Given the description of an element on the screen output the (x, y) to click on. 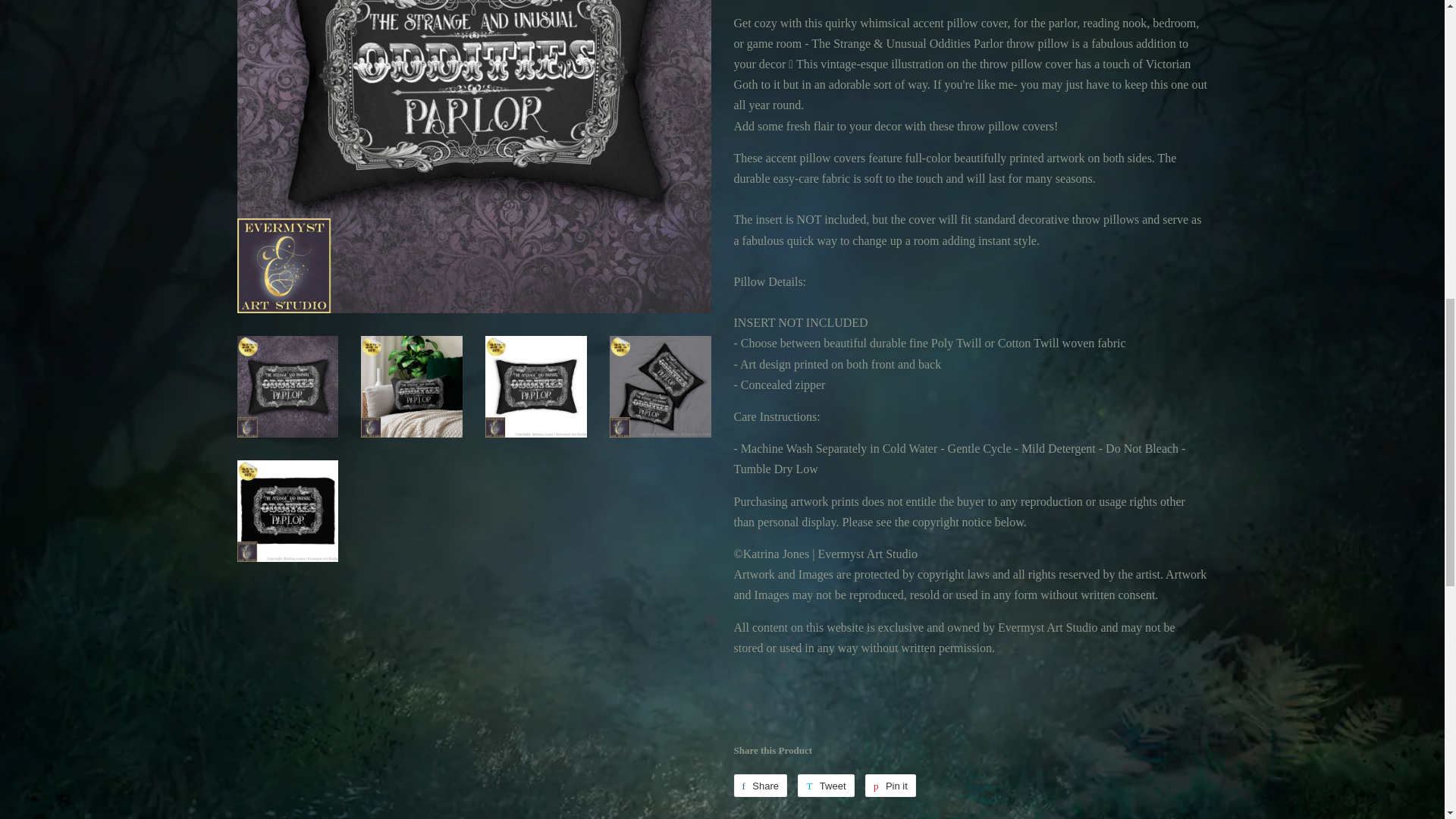
Tweet on Twitter (825, 784)
Pin on Pinterest (889, 784)
Share on Facebook (760, 784)
